Given the description of an element on the screen output the (x, y) to click on. 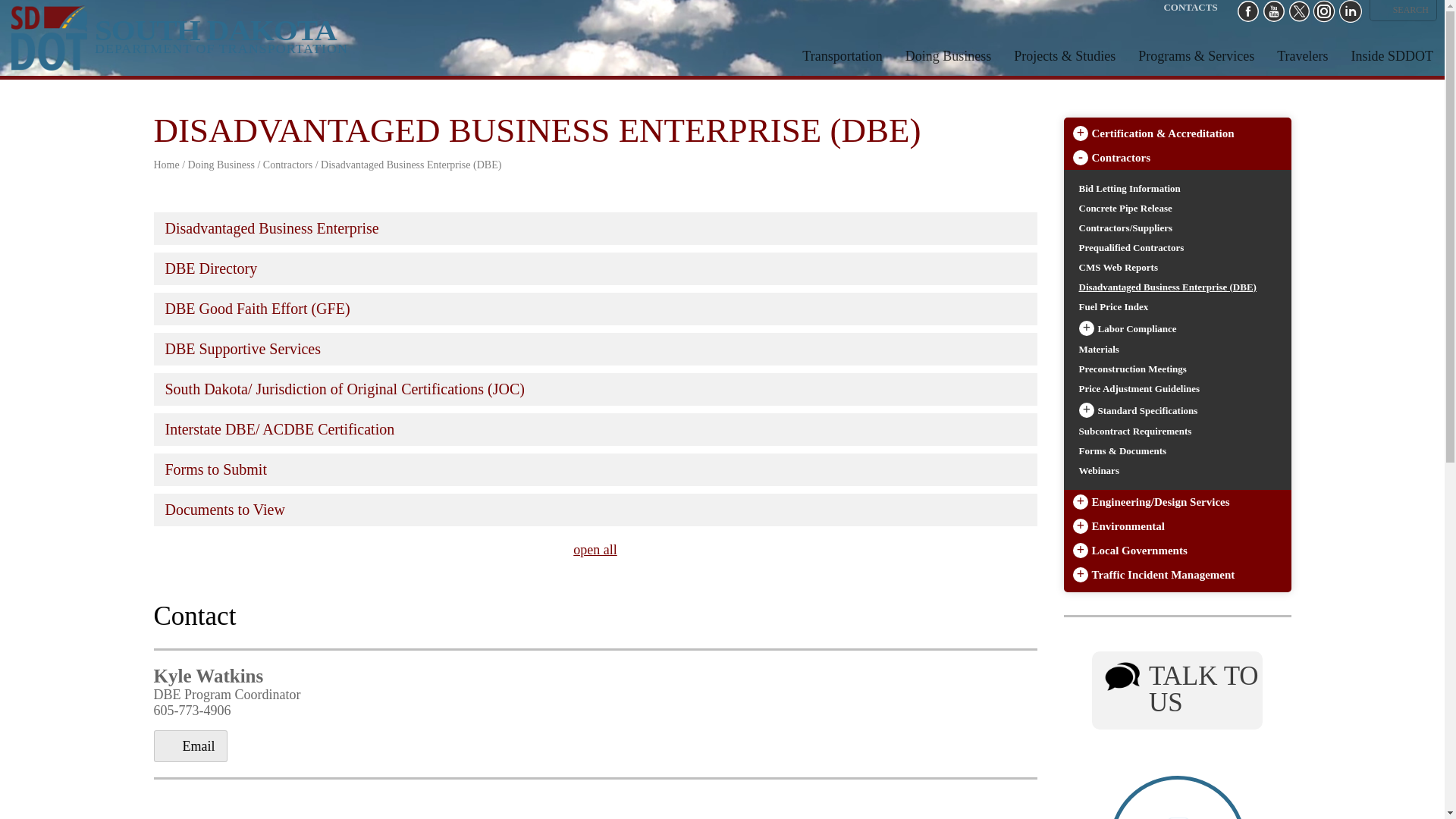
CONTACTS (1190, 7)
Transportation (841, 39)
